Given the description of an element on the screen output the (x, y) to click on. 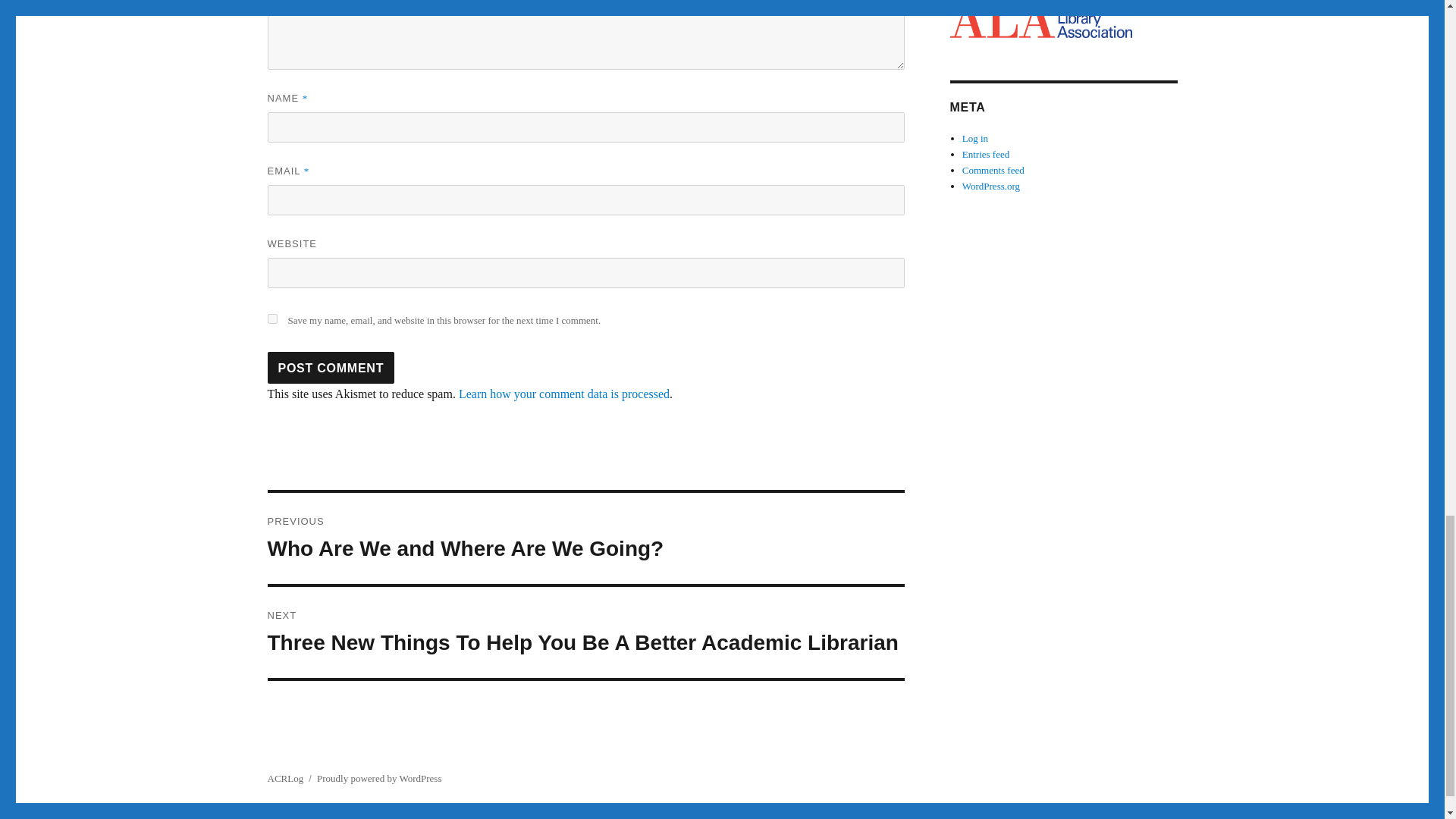
Post Comment (330, 368)
Learn how your comment data is processed (585, 538)
Post Comment (563, 393)
yes (330, 368)
